Given the description of an element on the screen output the (x, y) to click on. 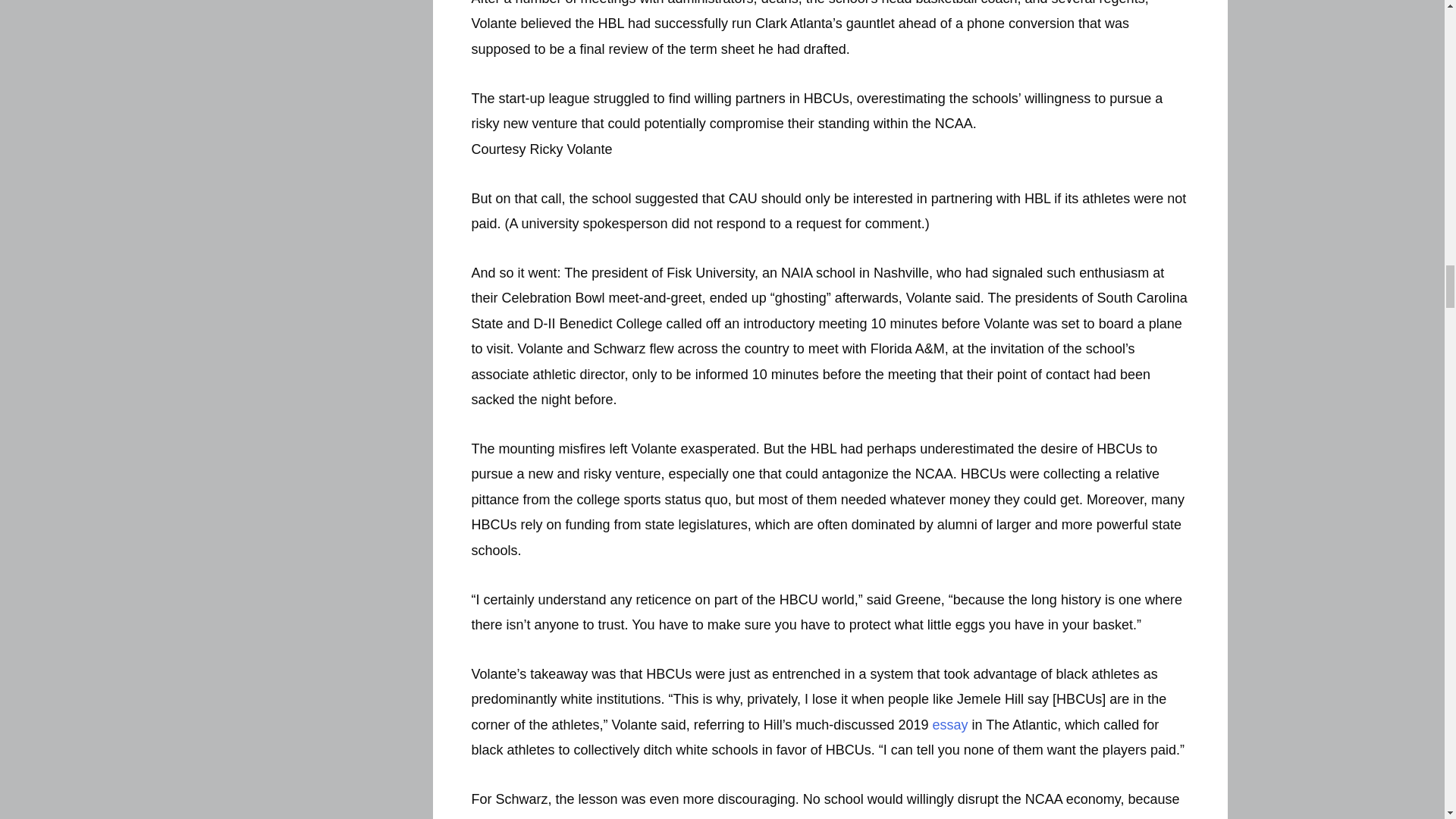
essay (949, 724)
